Given the description of an element on the screen output the (x, y) to click on. 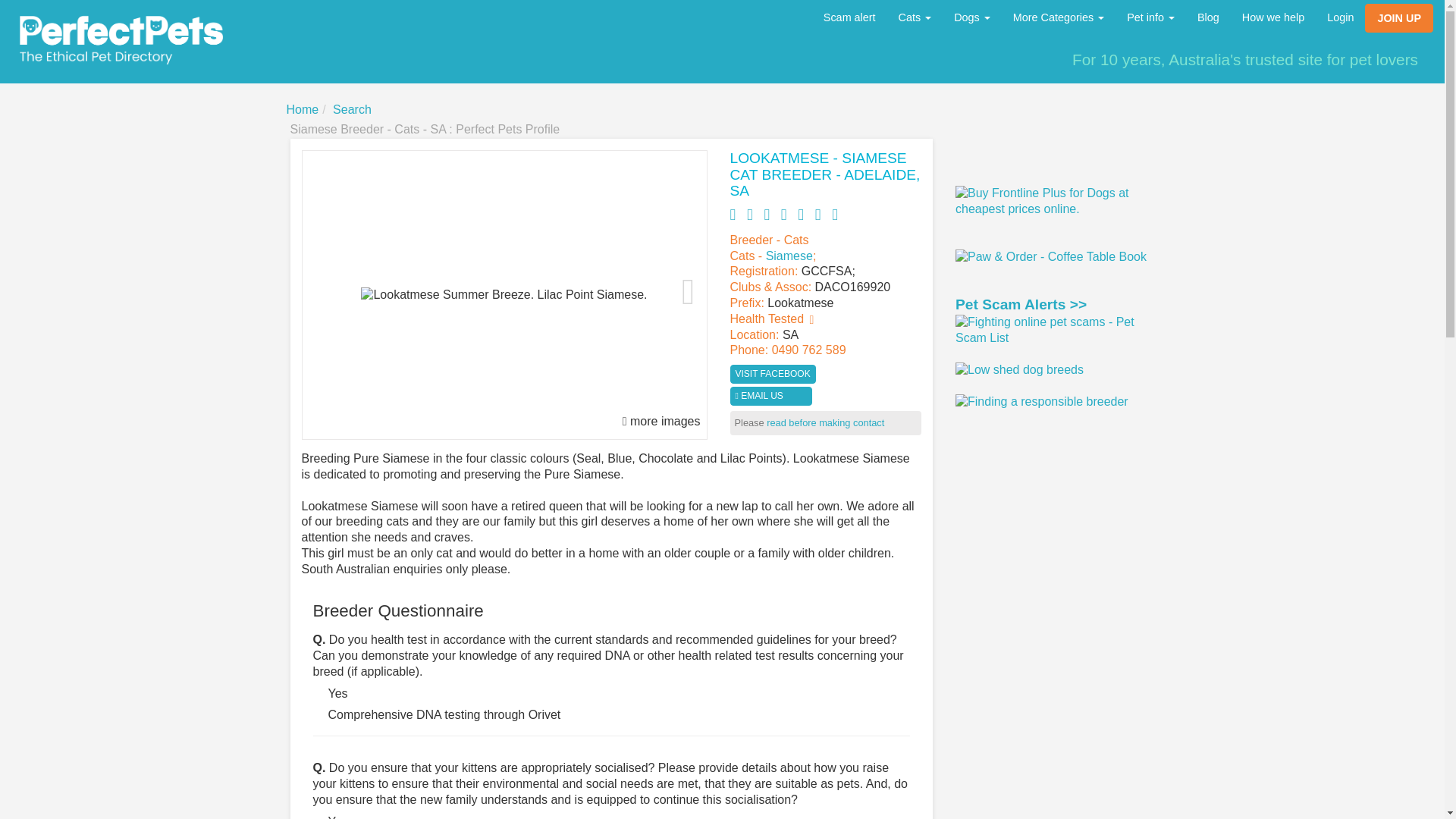
Login (1340, 17)
More Categories (1058, 17)
Home (302, 109)
Dogs (971, 17)
Lookatmese Summer Breeze. Lilac Point Siamese.  (503, 295)
Pet info (1150, 17)
more images (661, 421)
Scam alert (849, 17)
Blog (1208, 17)
JOIN UP (1398, 18)
Search (352, 109)
Cats (914, 17)
How we help (1273, 17)
Lookatmese Summer Breeze. Lilac Point Siamese.  (503, 294)
